Given the description of an element on the screen output the (x, y) to click on. 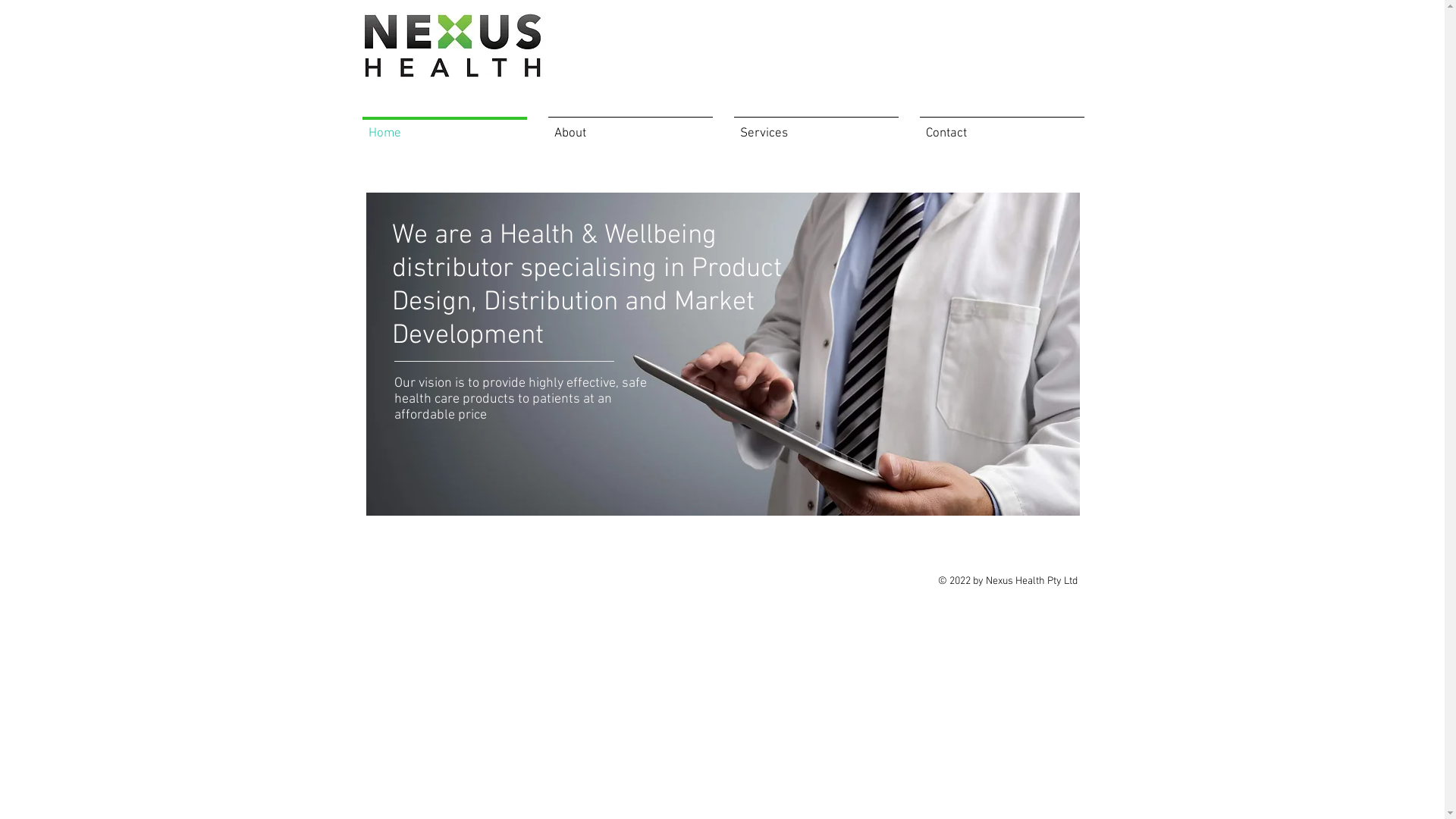
Contact Element type: text (1001, 126)
NexusHealthlogo.jpg Element type: hover (453, 48)
Home Element type: text (444, 126)
About Element type: text (629, 126)
Services Element type: text (816, 126)
Final.jpg Element type: hover (722, 353)
